Given the description of an element on the screen output the (x, y) to click on. 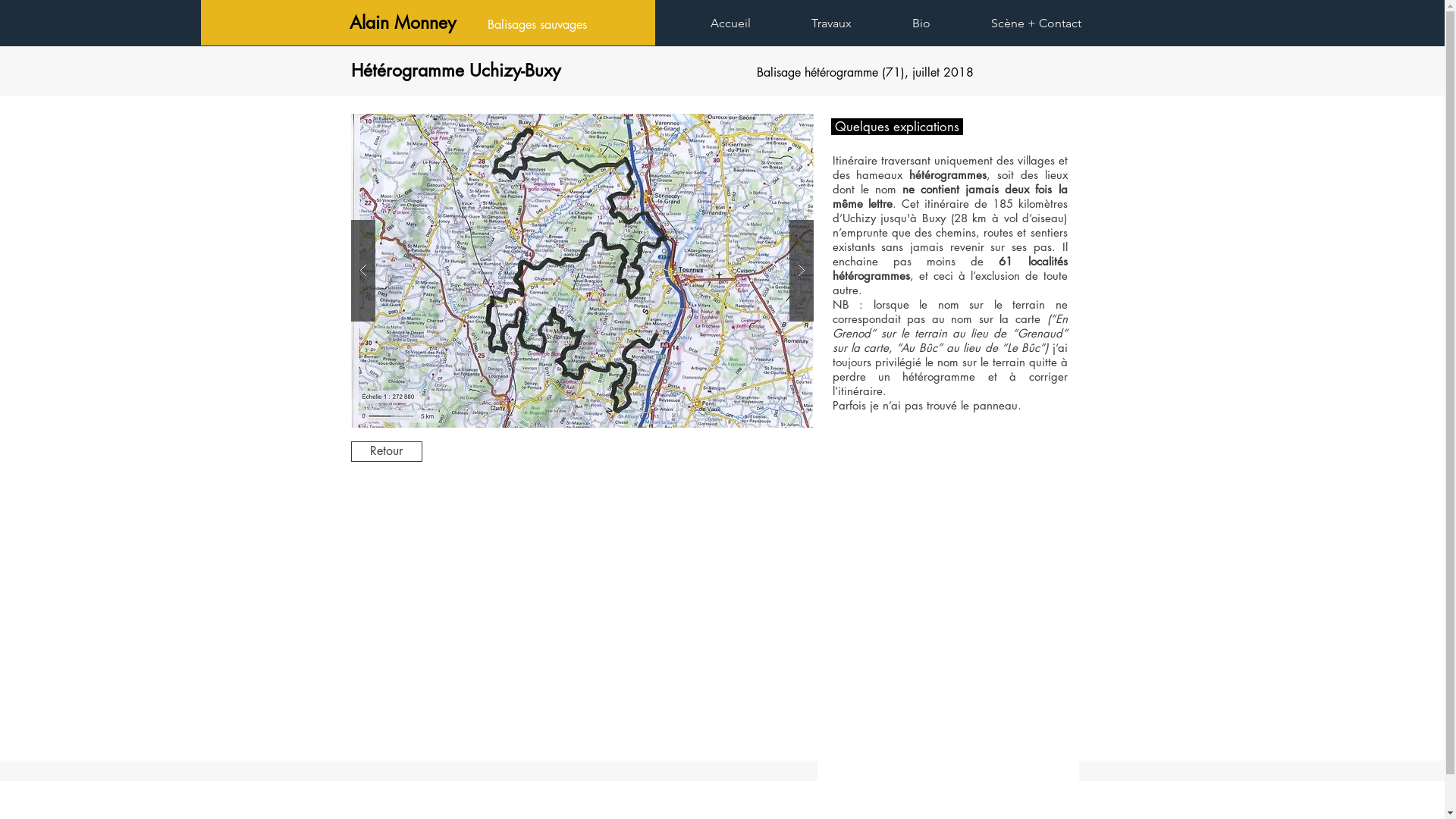
Travaux Element type: text (849, 23)
Accueil Element type: text (749, 23)
Bio Element type: text (939, 23)
Retour Element type: text (385, 451)
